Given the description of an element on the screen output the (x, y) to click on. 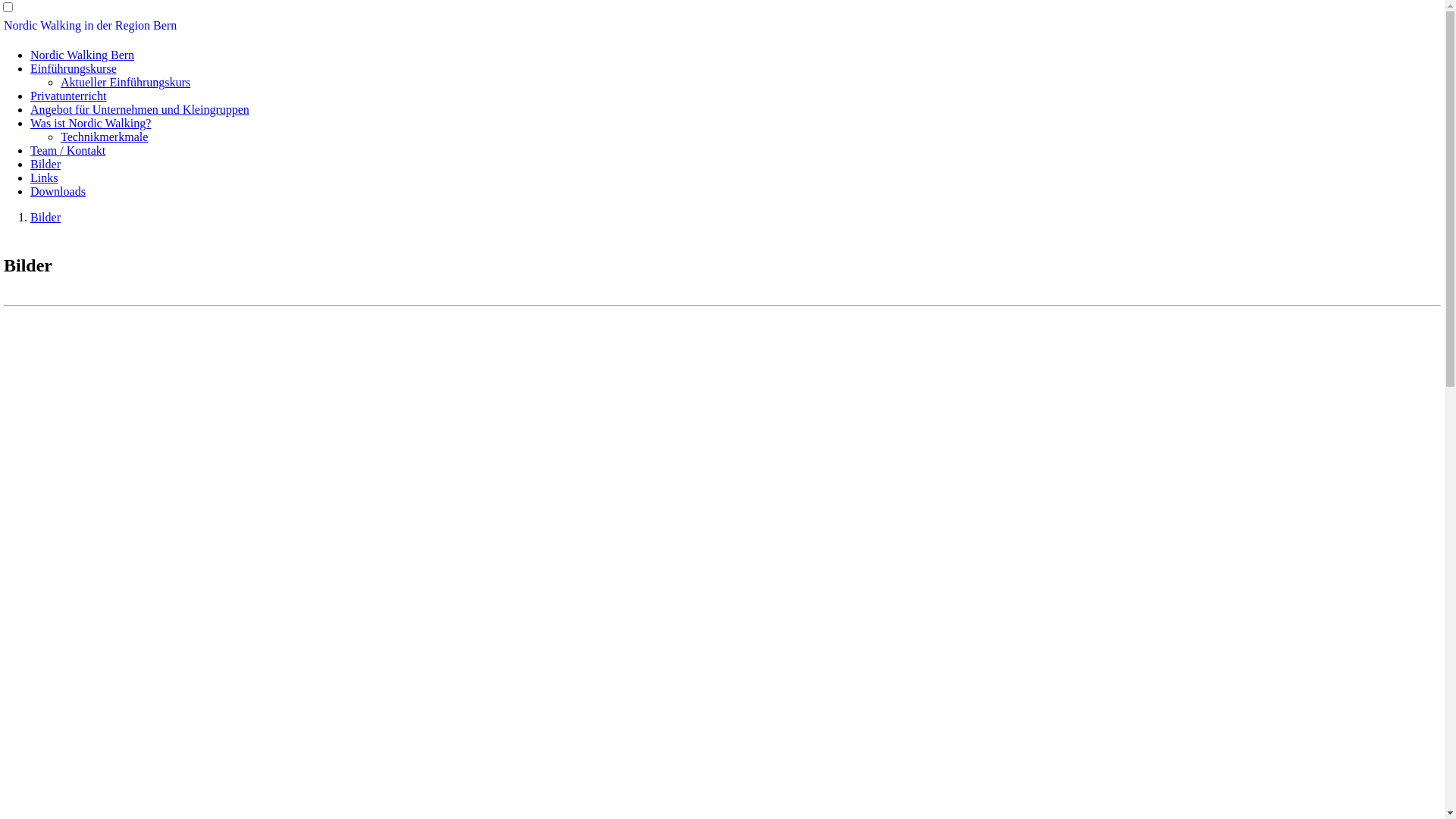
Links Element type: text (43, 177)
Privatunterricht Element type: text (68, 95)
Bilder Element type: text (45, 216)
Nordic Walking Bern Element type: text (82, 54)
Team / Kontakt Element type: text (67, 150)
Was ist Nordic Walking? Element type: text (90, 122)
Nordic Walking in der Region Bern Element type: text (89, 24)
Downloads Element type: text (57, 191)
Bilder Element type: text (45, 163)
Technikmerkmale Element type: text (103, 136)
